Given the description of an element on the screen output the (x, y) to click on. 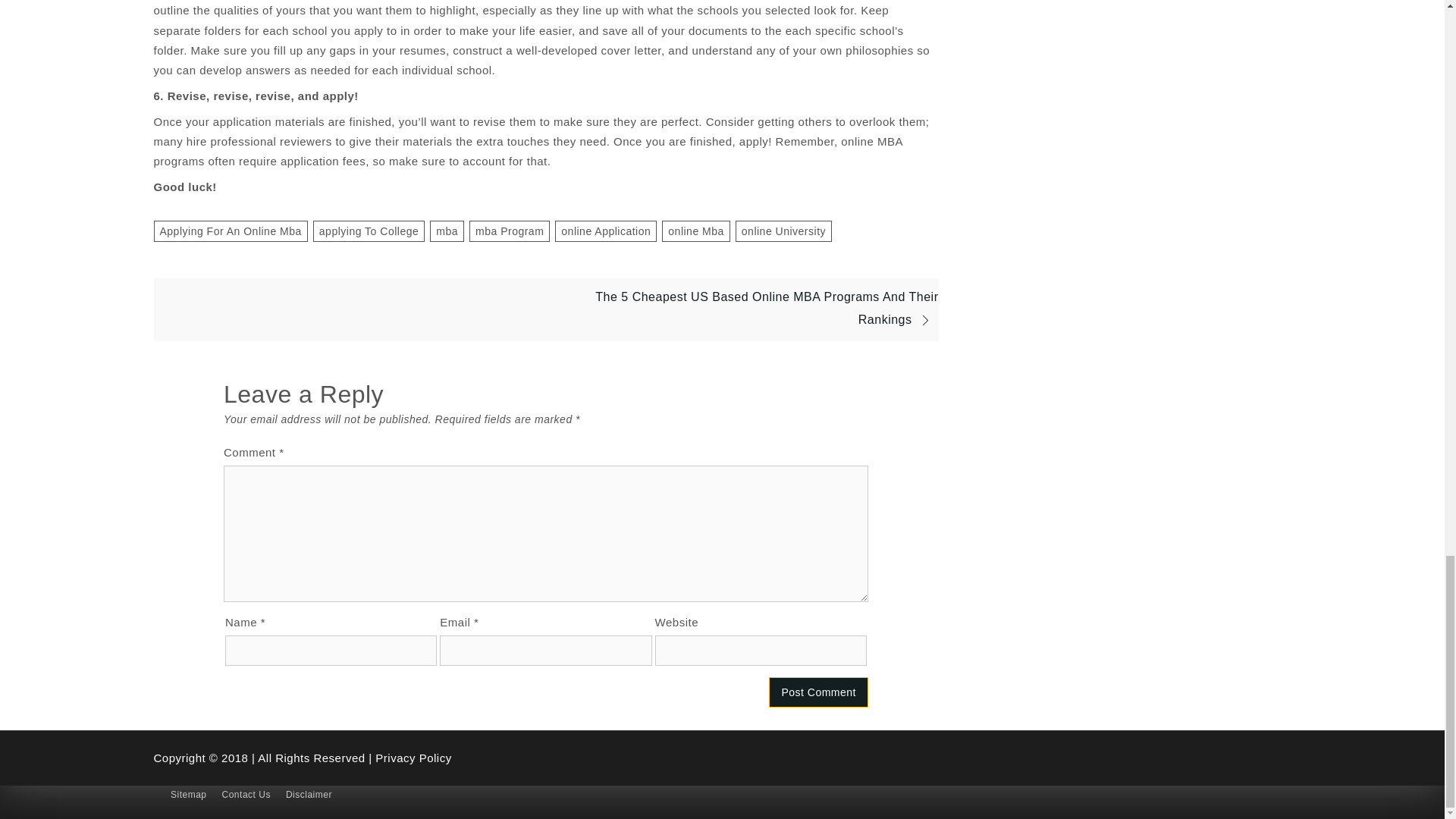
Post Comment (817, 692)
Online Mba (696, 230)
Online University (783, 230)
Online Application (605, 230)
Applying To College (369, 230)
Applying For An Online Mba (229, 230)
Post Comment (817, 692)
Mba (446, 230)
Mba Program (509, 230)
